Given the description of an element on the screen output the (x, y) to click on. 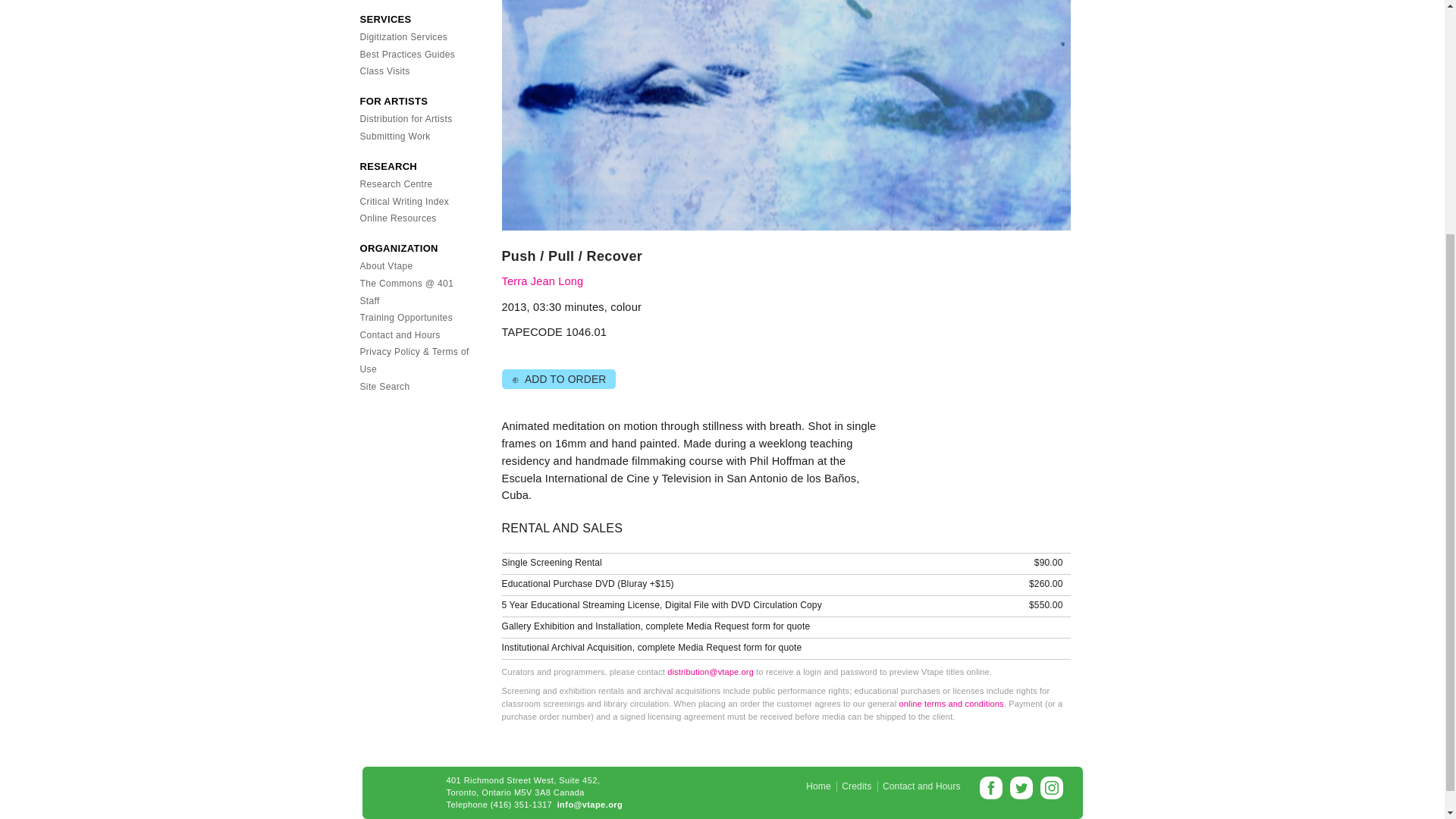
Terra Jean Long (542, 281)
online terms and conditions (950, 703)
Critical Writing Index Search (403, 201)
Add this title to your media request list. (558, 378)
